Given the description of an element on the screen output the (x, y) to click on. 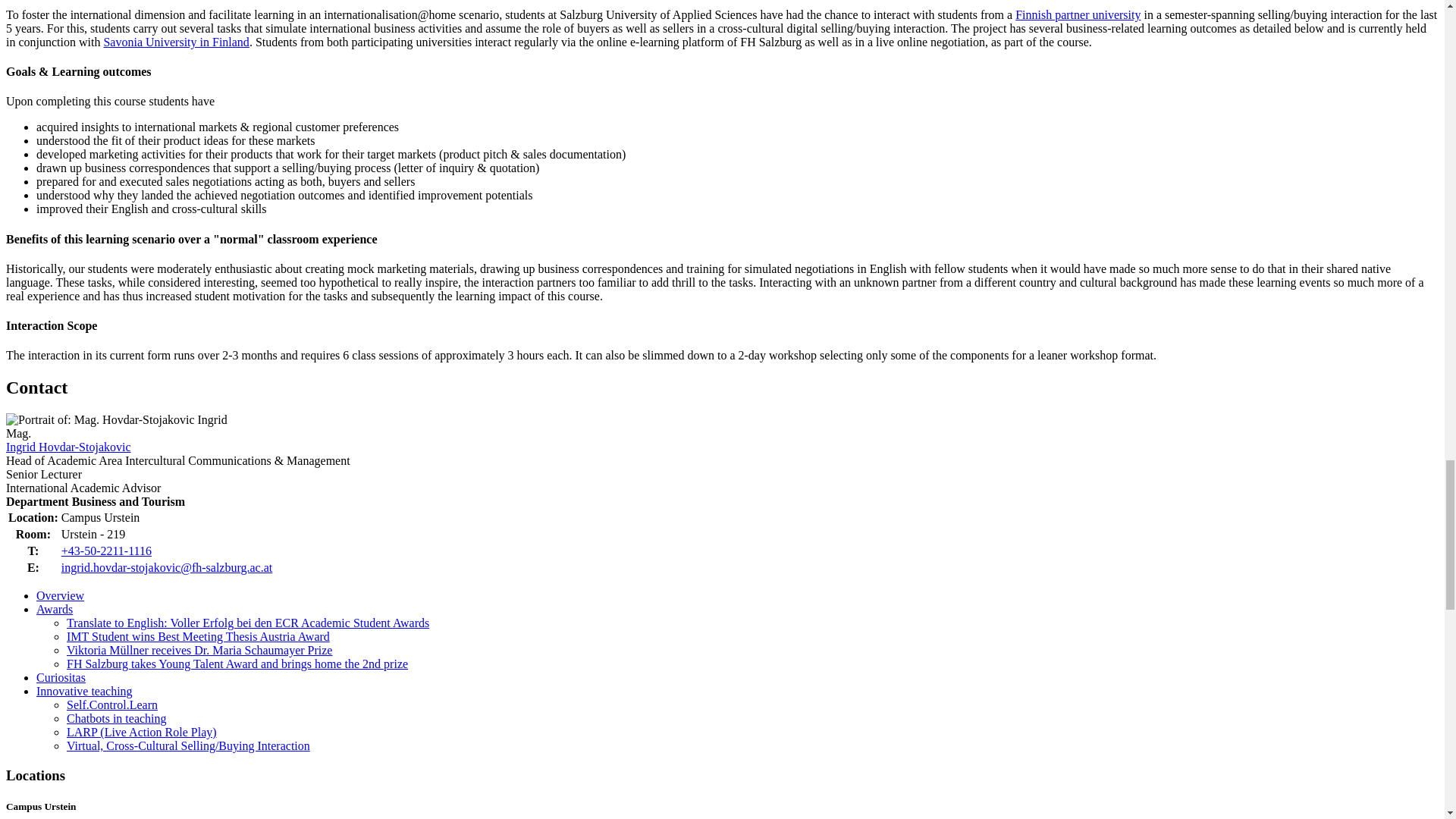
Click to call (106, 550)
